Given the description of an element on the screen output the (x, y) to click on. 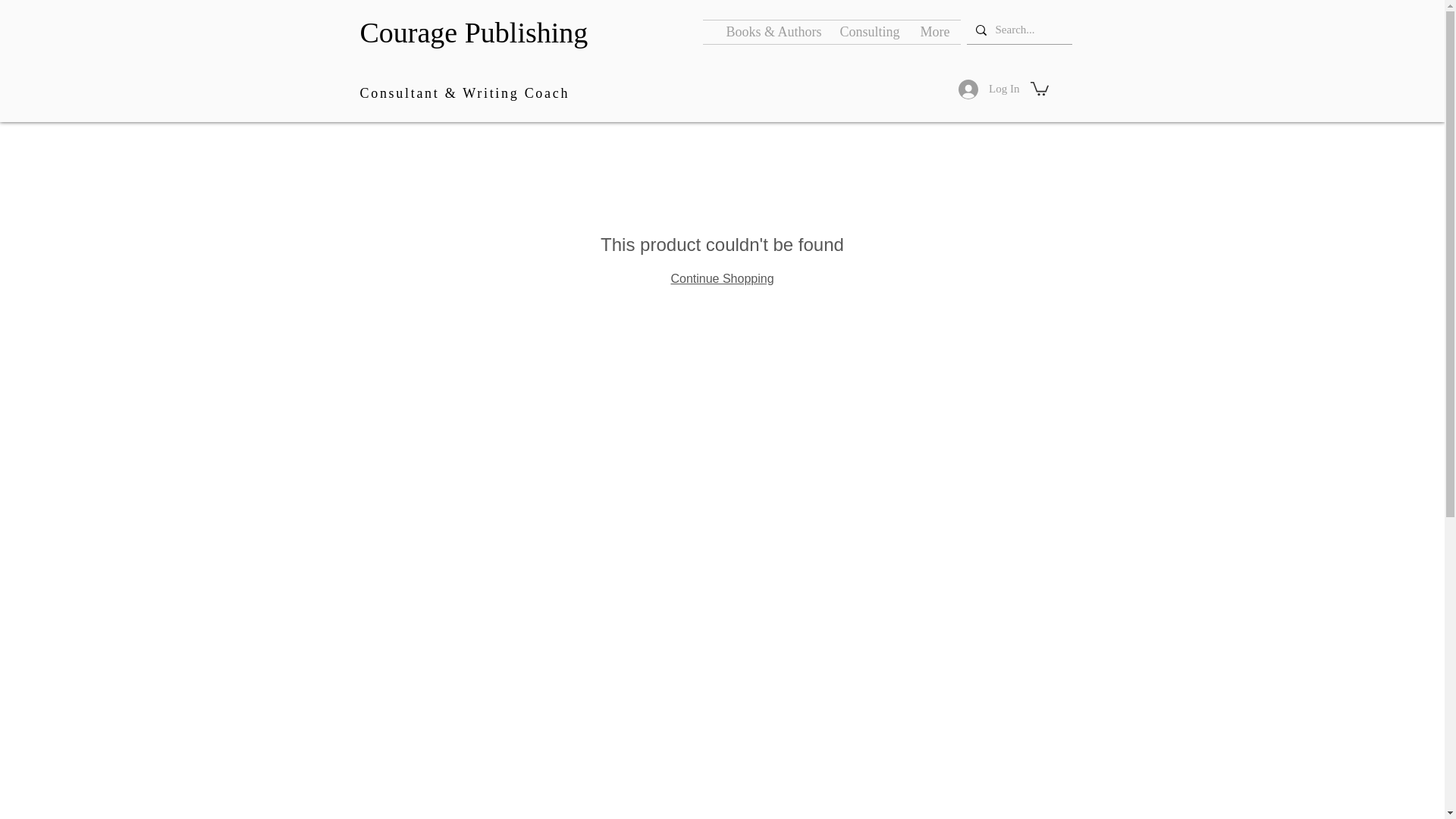
Courage Publishing (473, 32)
Consulting (868, 32)
Log In (988, 88)
Continue Shopping (721, 278)
